Given the description of an element on the screen output the (x, y) to click on. 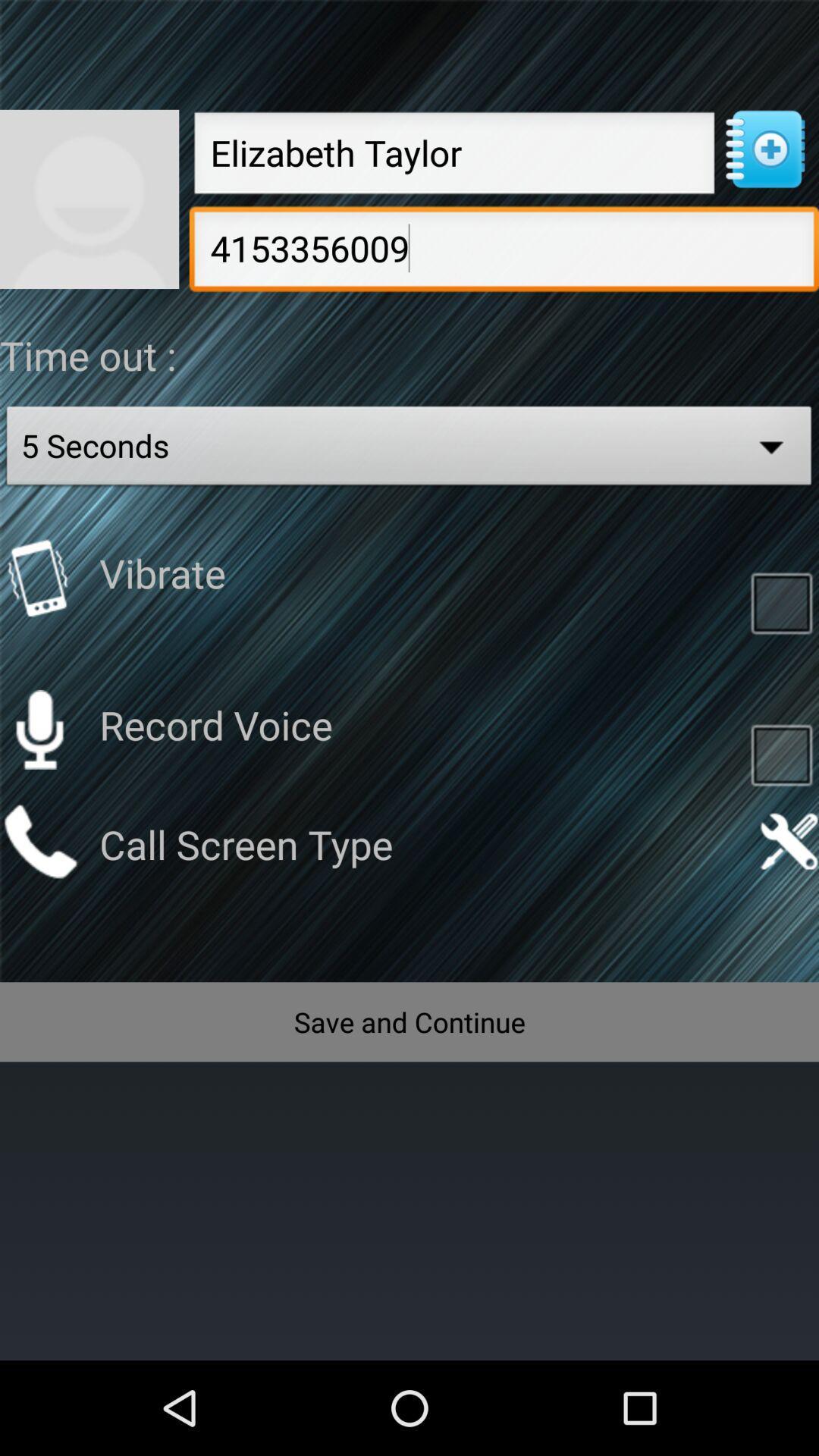
profile photo (89, 198)
